Given the description of an element on the screen output the (x, y) to click on. 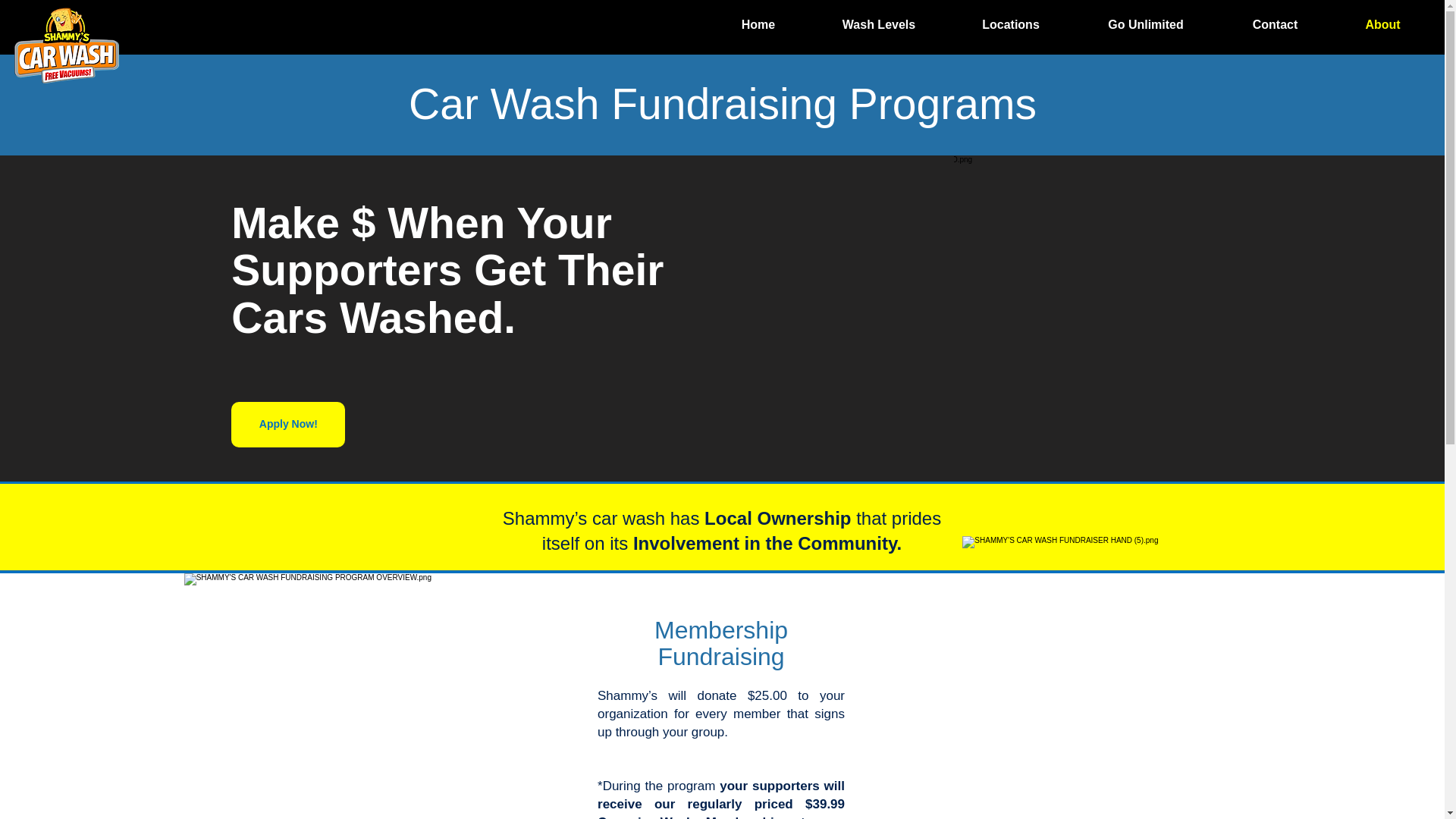
Apply Now! (288, 424)
Contact (1275, 24)
Home (758, 24)
Go Unlimited (1145, 24)
About (1383, 24)
Locations (1011, 24)
